Given the description of an element on the screen output the (x, y) to click on. 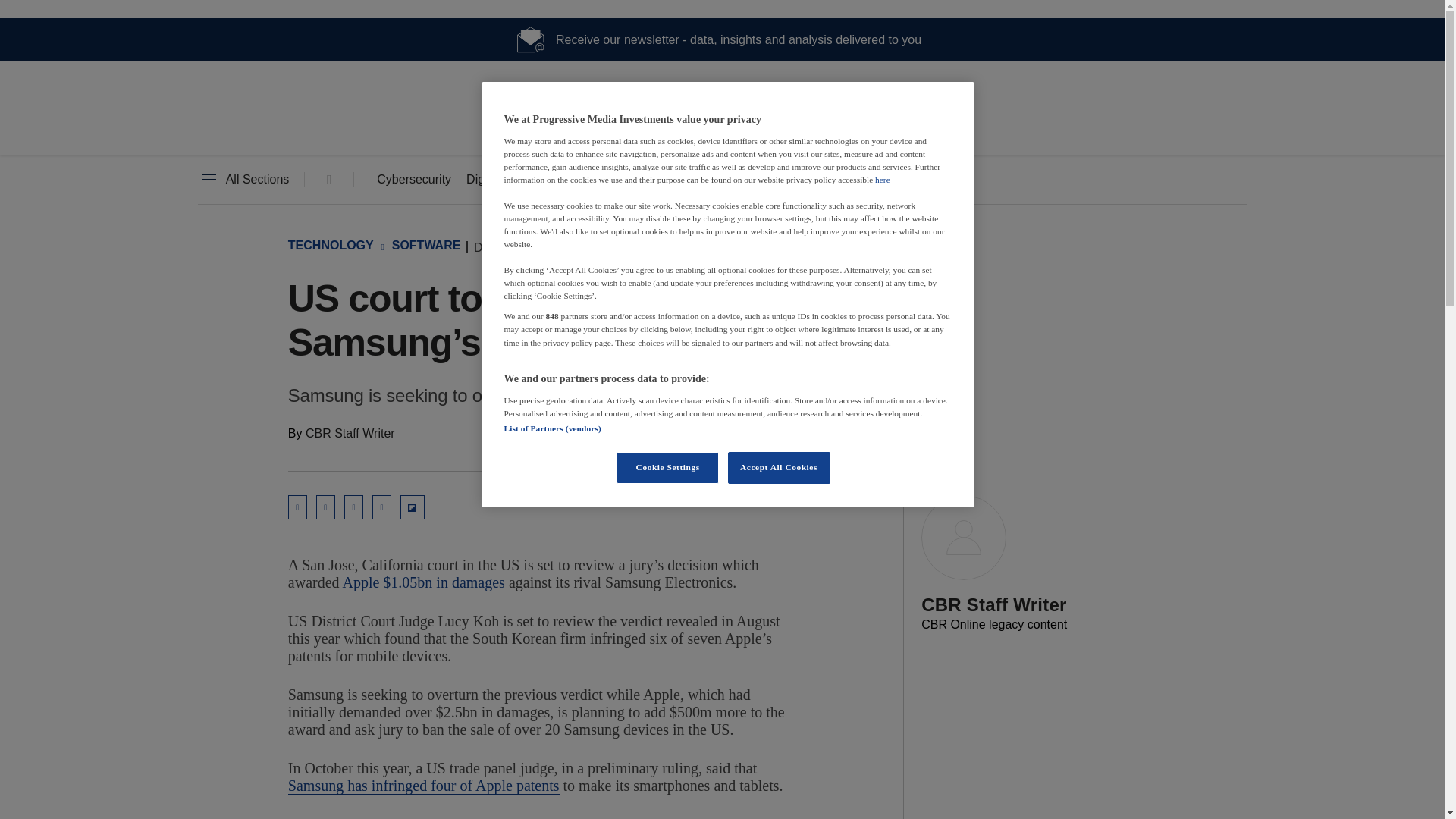
Hardware (612, 179)
Share on Flipboard (412, 507)
Events (783, 179)
All Sections (242, 179)
Tech Monitor (722, 128)
Digital economy (509, 179)
Leadership (701, 179)
Cybersecurity (414, 179)
